Given the description of an element on the screen output the (x, y) to click on. 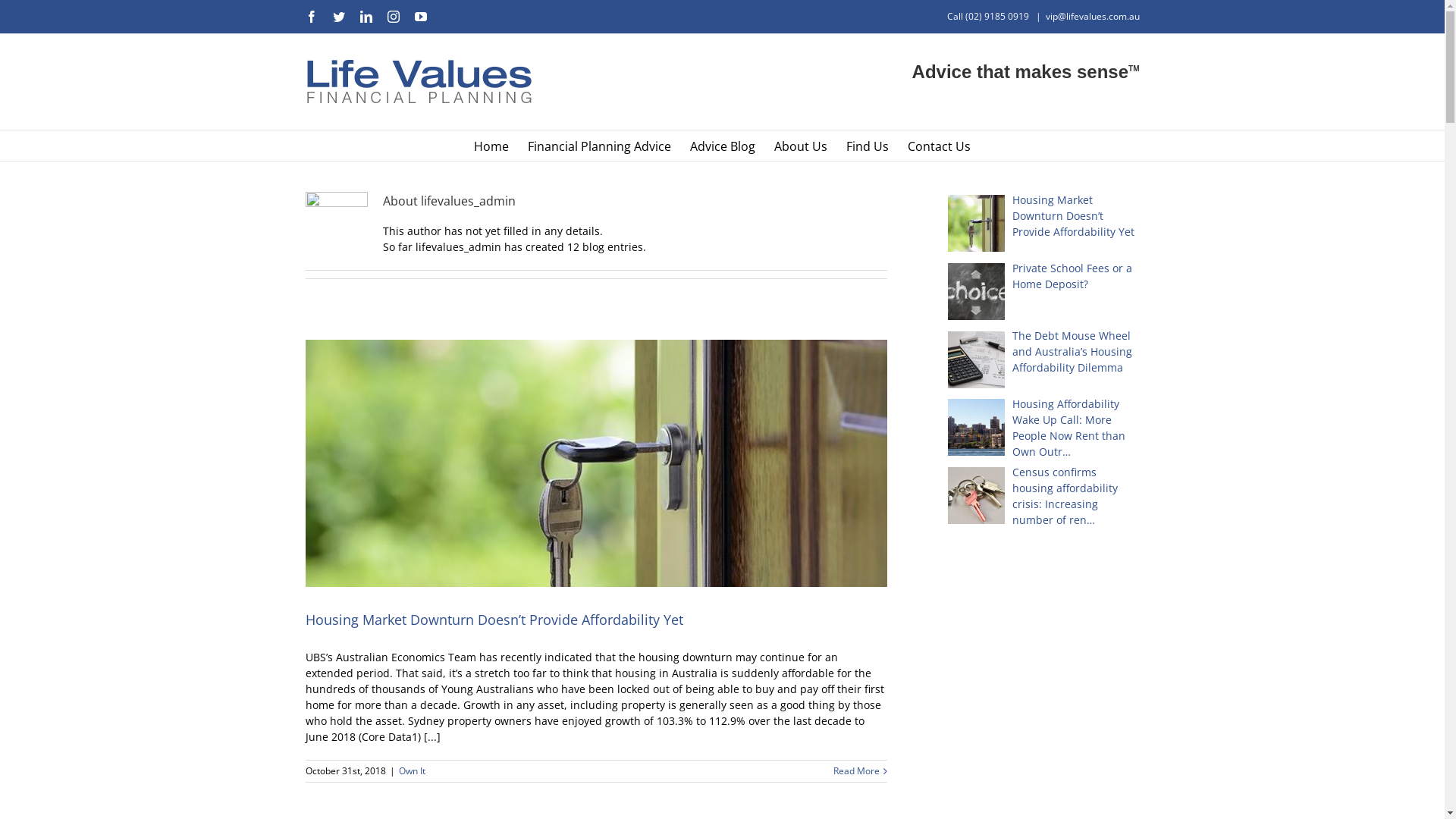
Instagram Element type: text (392, 16)
Advice Blog Element type: text (722, 145)
Facebook Element type: text (310, 16)
Twitter Element type: text (338, 16)
Financial Planning Advice Element type: text (599, 145)
Private School Fees or a Home Deposit? Element type: text (1043, 275)
Read More Element type: text (855, 771)
Find Us Element type: text (867, 145)
Home Element type: text (490, 145)
Contact Us Element type: text (938, 145)
Own It Element type: text (411, 770)
YouTube Element type: text (420, 16)
vip@lifevalues.com.au Element type: text (1091, 15)
About Us Element type: text (800, 145)
Linkedin Element type: text (365, 16)
